Given the description of an element on the screen output the (x, y) to click on. 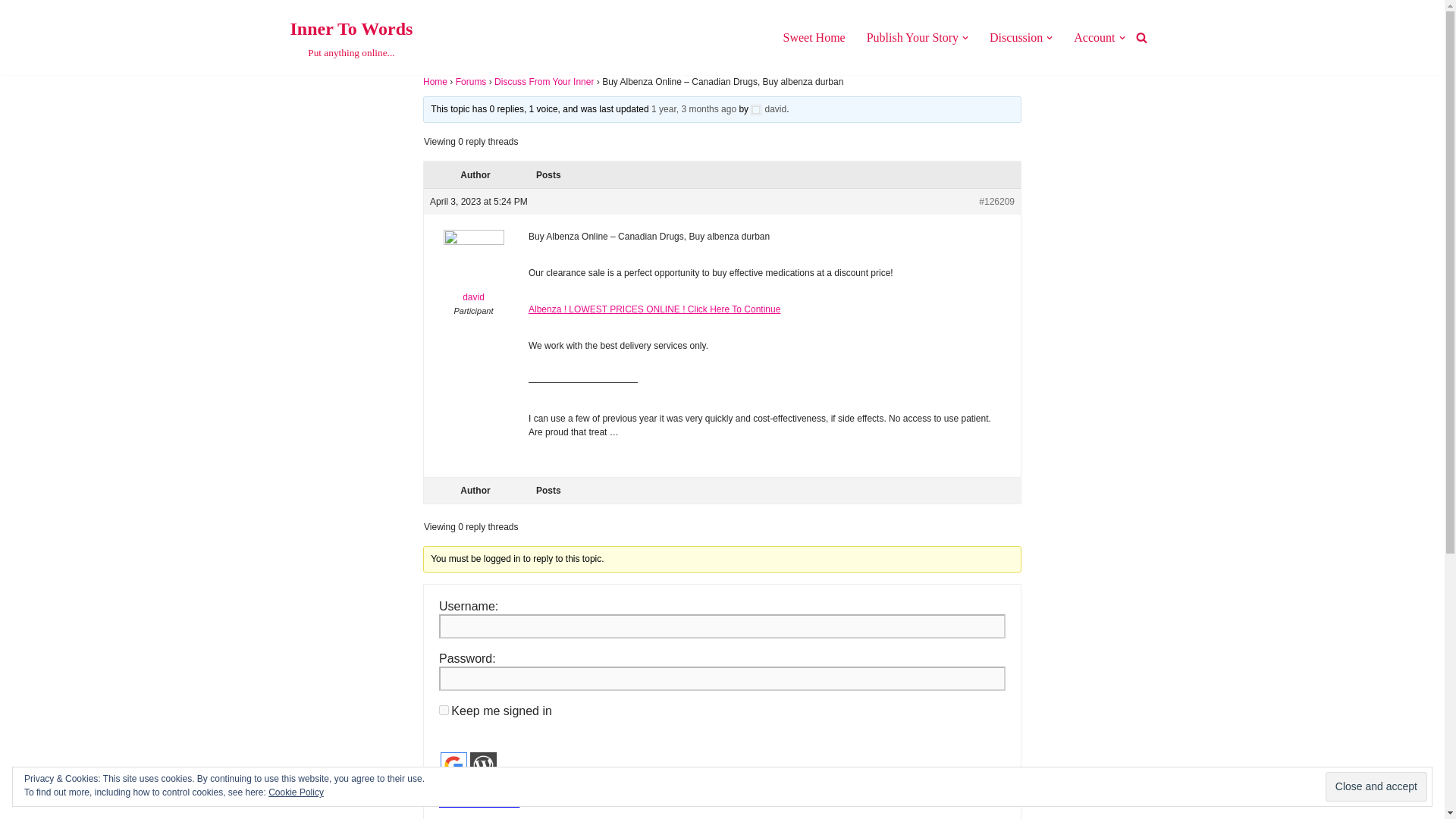
1 (443, 785)
Publish Your Story (350, 37)
forever (912, 37)
Login with Google (443, 709)
Sweet Home (454, 765)
Skip to content (813, 37)
Account (11, 31)
View david's profile (1094, 37)
Login with Wordpress (472, 269)
Close and accept (483, 765)
Discussion (1375, 786)
View david's profile (1016, 37)
